Given the description of an element on the screen output the (x, y) to click on. 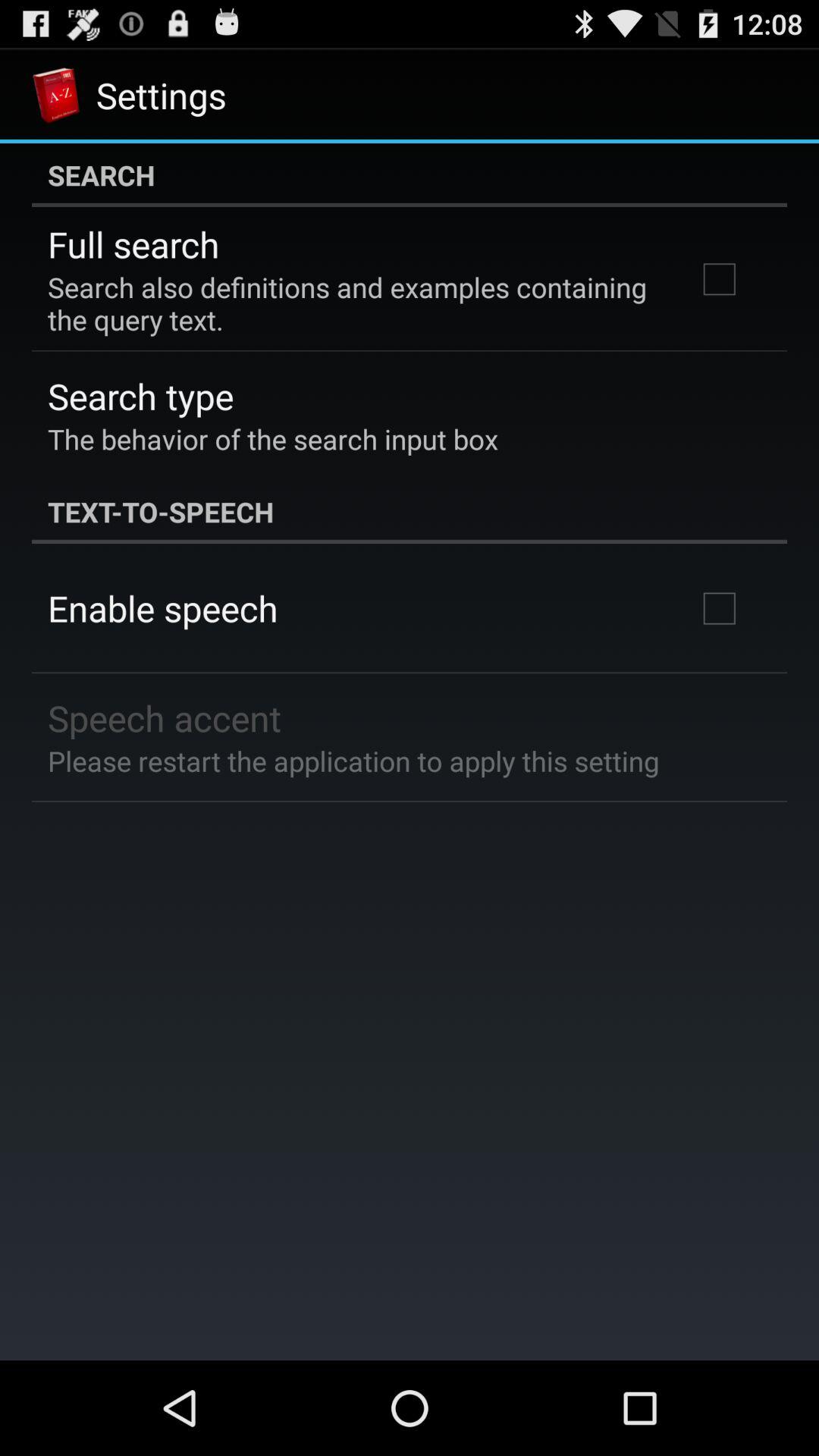
turn on item below full search app (351, 303)
